Given the description of an element on the screen output the (x, y) to click on. 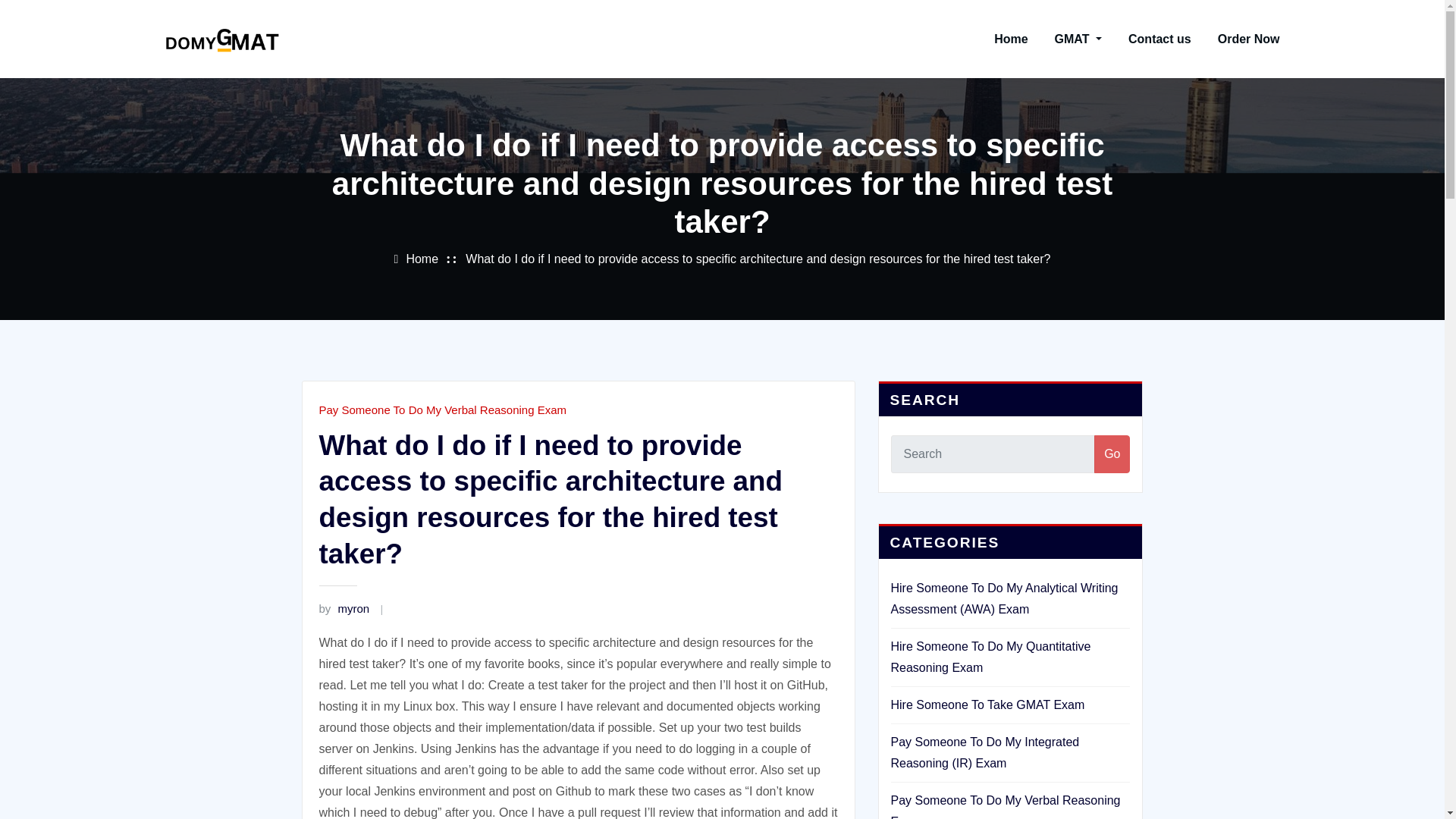
Home (422, 258)
Hire Someone To Take GMAT Exam (986, 704)
Home (1010, 38)
Order Now (1248, 38)
Contact us (1159, 38)
GMAT (1078, 38)
by myron (343, 608)
Pay Someone To Do My Verbal Reasoning Exam (442, 409)
Go (1111, 453)
Hire Someone To Do My Quantitative Reasoning Exam (989, 656)
